Given the description of an element on the screen output the (x, y) to click on. 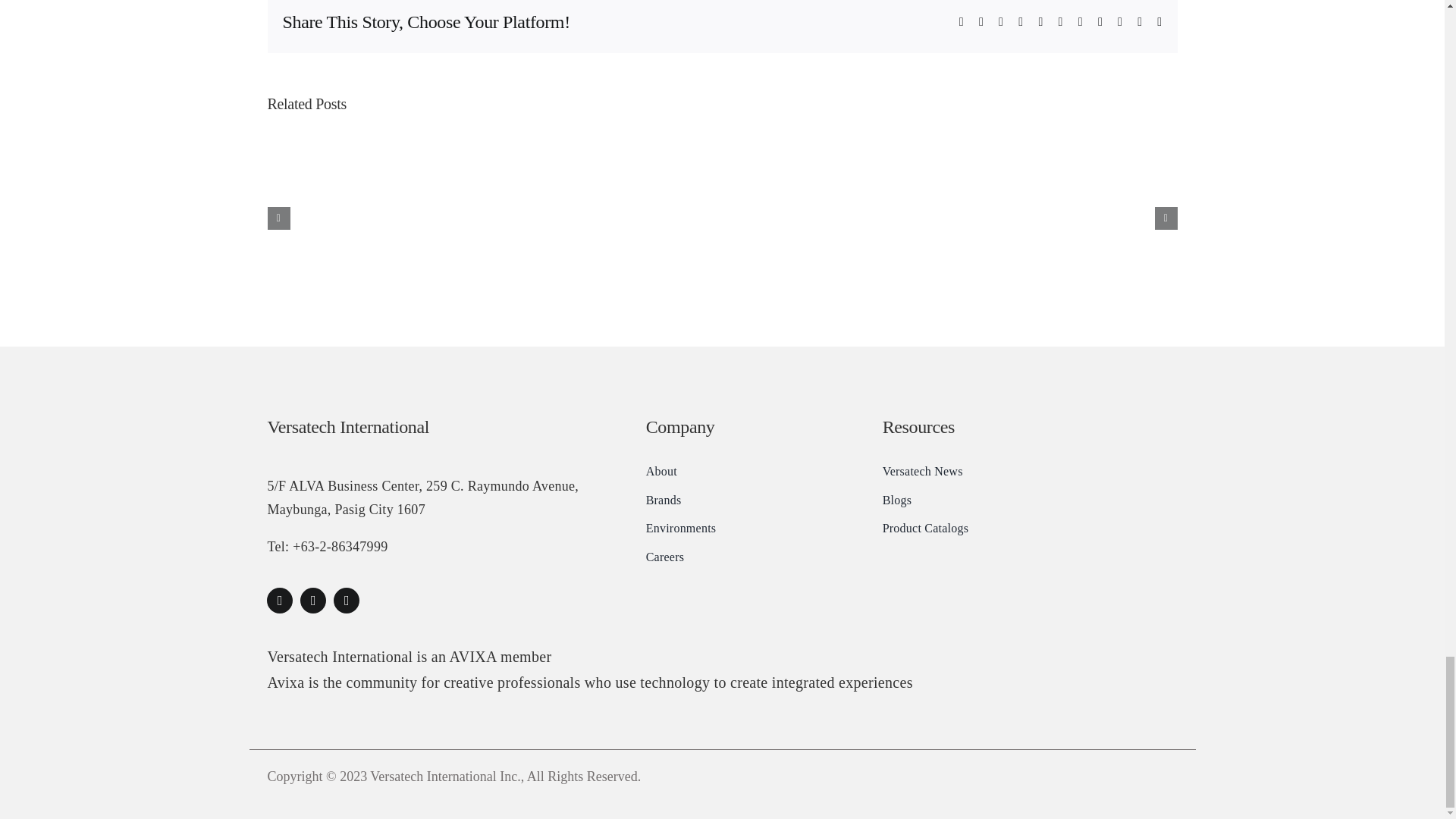
LinkedIn (346, 600)
Instagram (312, 600)
Facebook (279, 600)
